Given the description of an element on the screen output the (x, y) to click on. 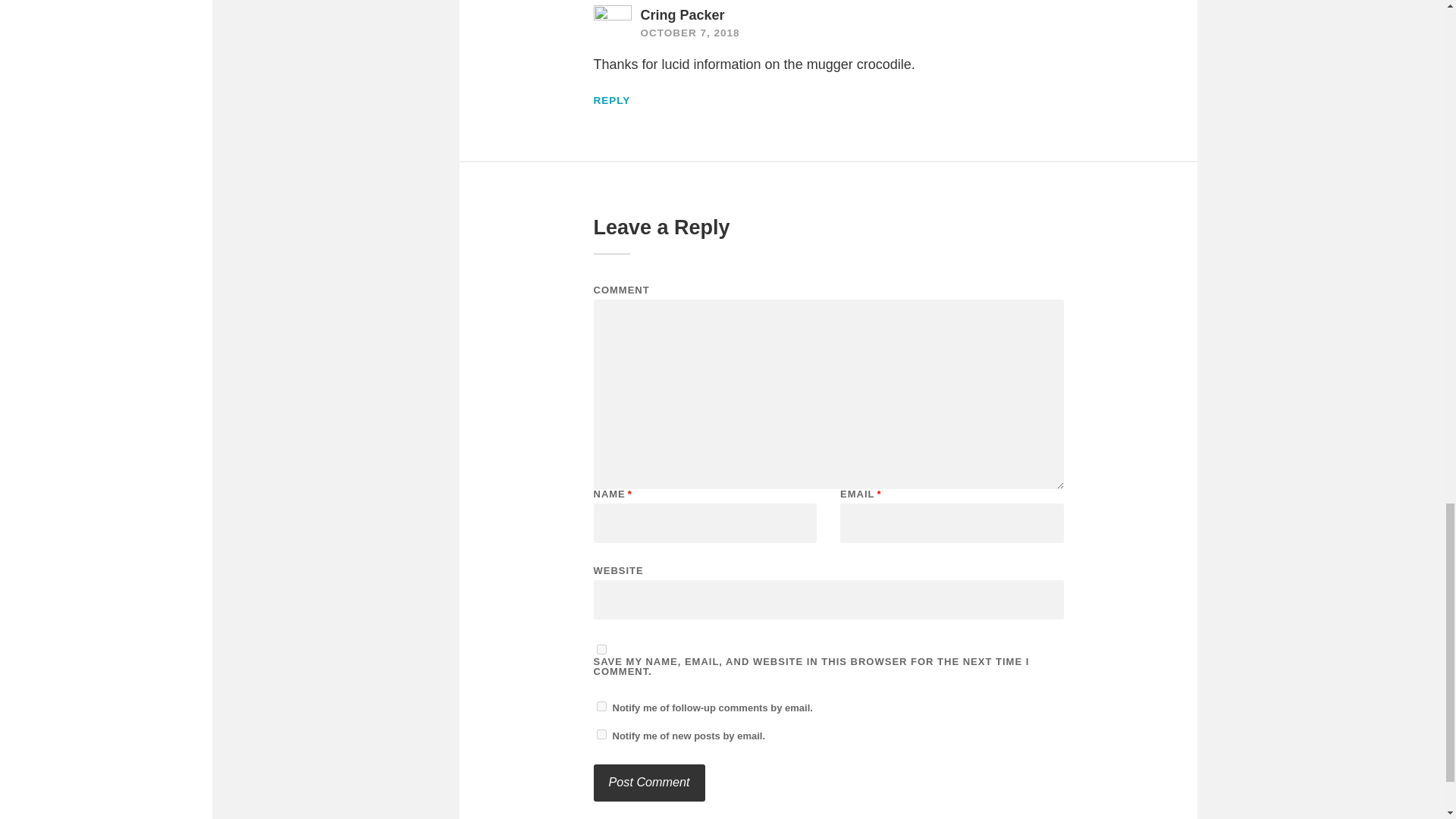
subscribe (600, 734)
subscribe (600, 706)
October 7, 2018 at 4:39 am (689, 32)
Post Comment (648, 782)
yes (600, 649)
